Given the description of an element on the screen output the (x, y) to click on. 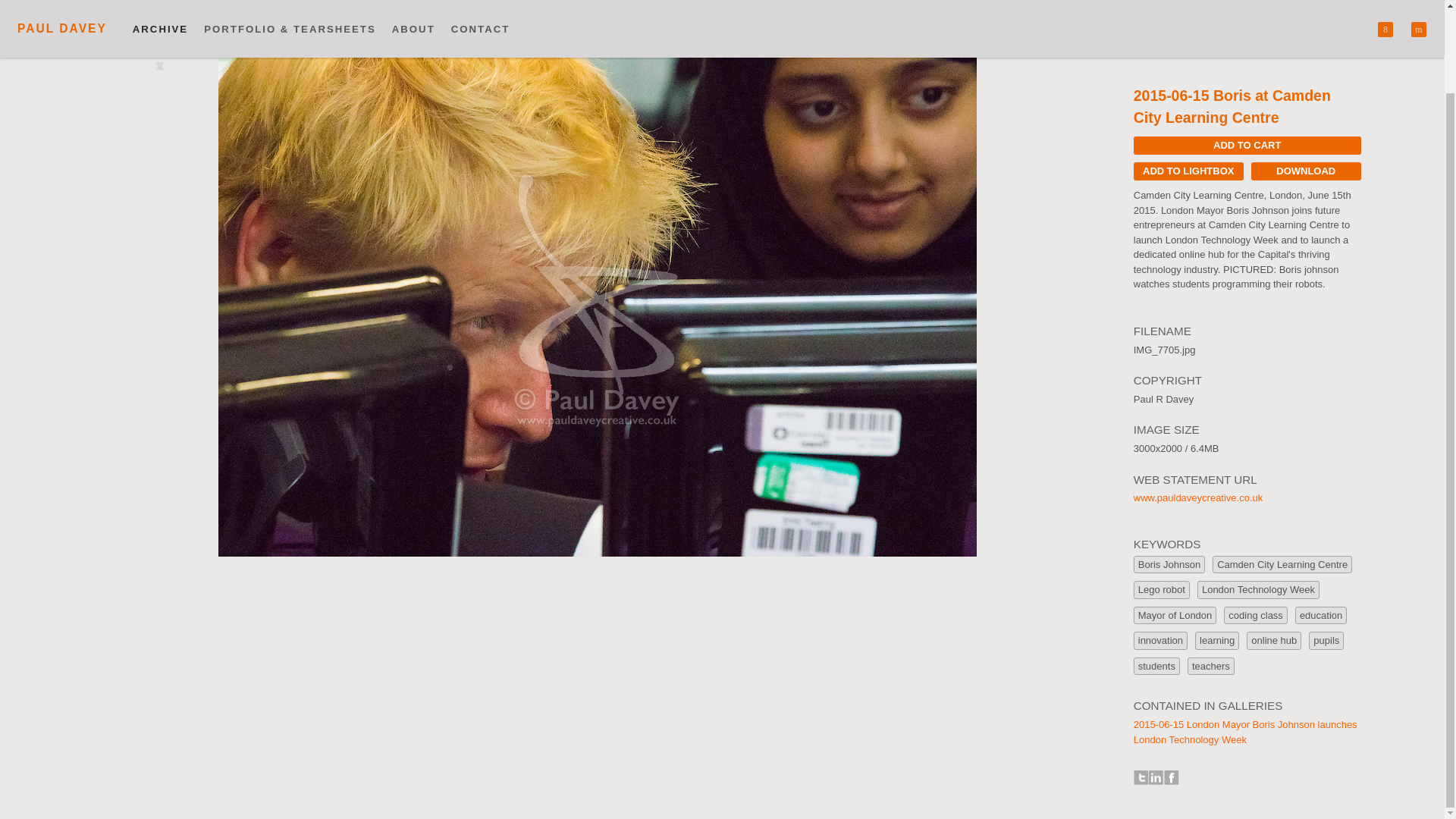
ADD TO LIGHTBOX (1188, 171)
www.pauldaveycreative.co.uk (1198, 497)
Camden City Learning Centre (1282, 565)
education (1320, 615)
students (1156, 666)
Lego robot (1161, 589)
innovation (1161, 640)
Boris Johnson (1169, 565)
ADD TO CART (1247, 145)
Add to Cart (1247, 145)
learning (1217, 640)
coding class (1255, 615)
DOWNLOAD (1305, 171)
Mayor of London (1175, 615)
online hub (1273, 640)
